Given the description of an element on the screen output the (x, y) to click on. 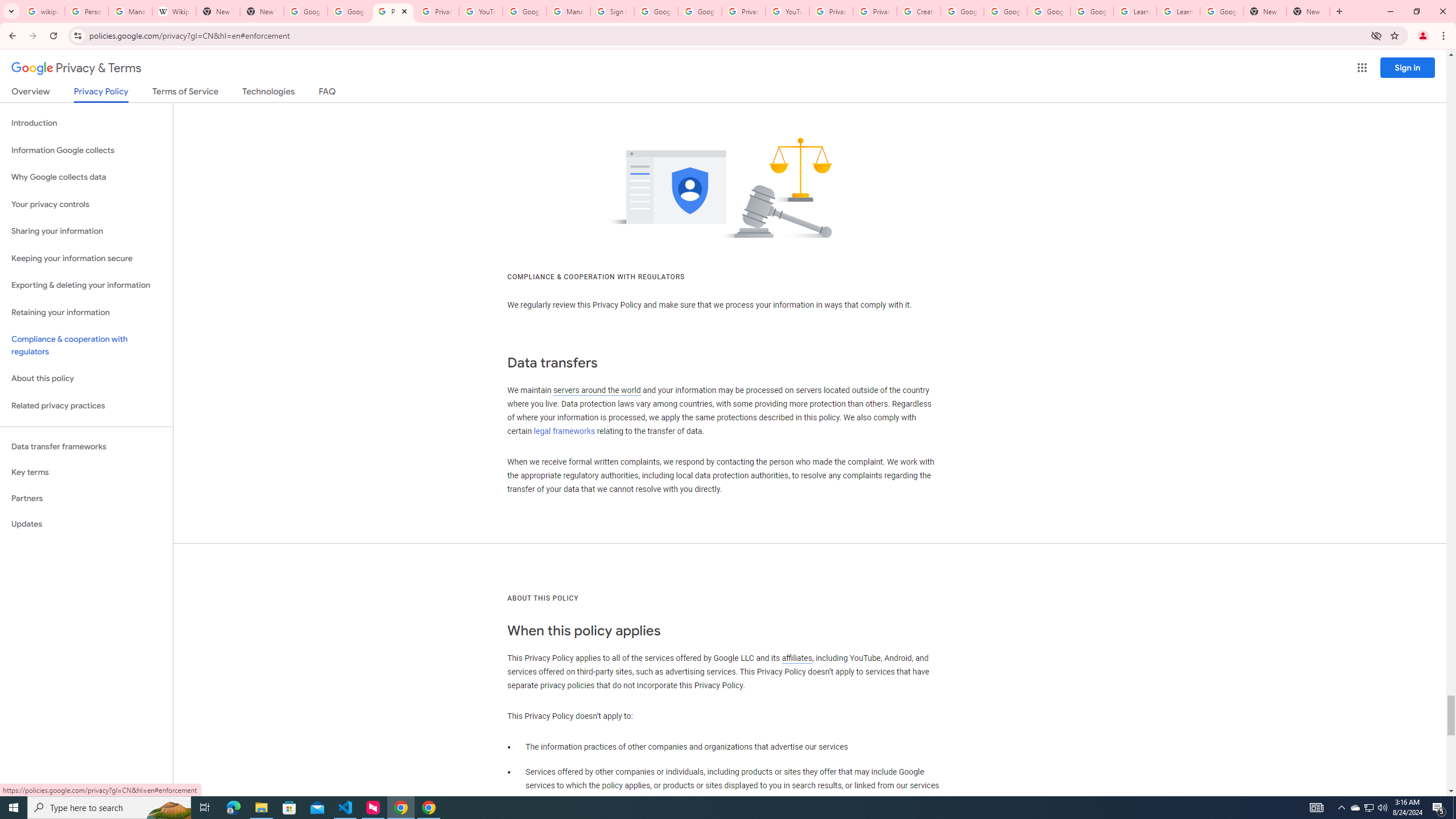
YouTube (786, 11)
legal frameworks (563, 430)
Data transfer frameworks (86, 446)
New Tab (1308, 11)
New Tab (1264, 11)
Google Account (1221, 11)
Why Google collects data (86, 176)
New Tab (261, 11)
